Given the description of an element on the screen output the (x, y) to click on. 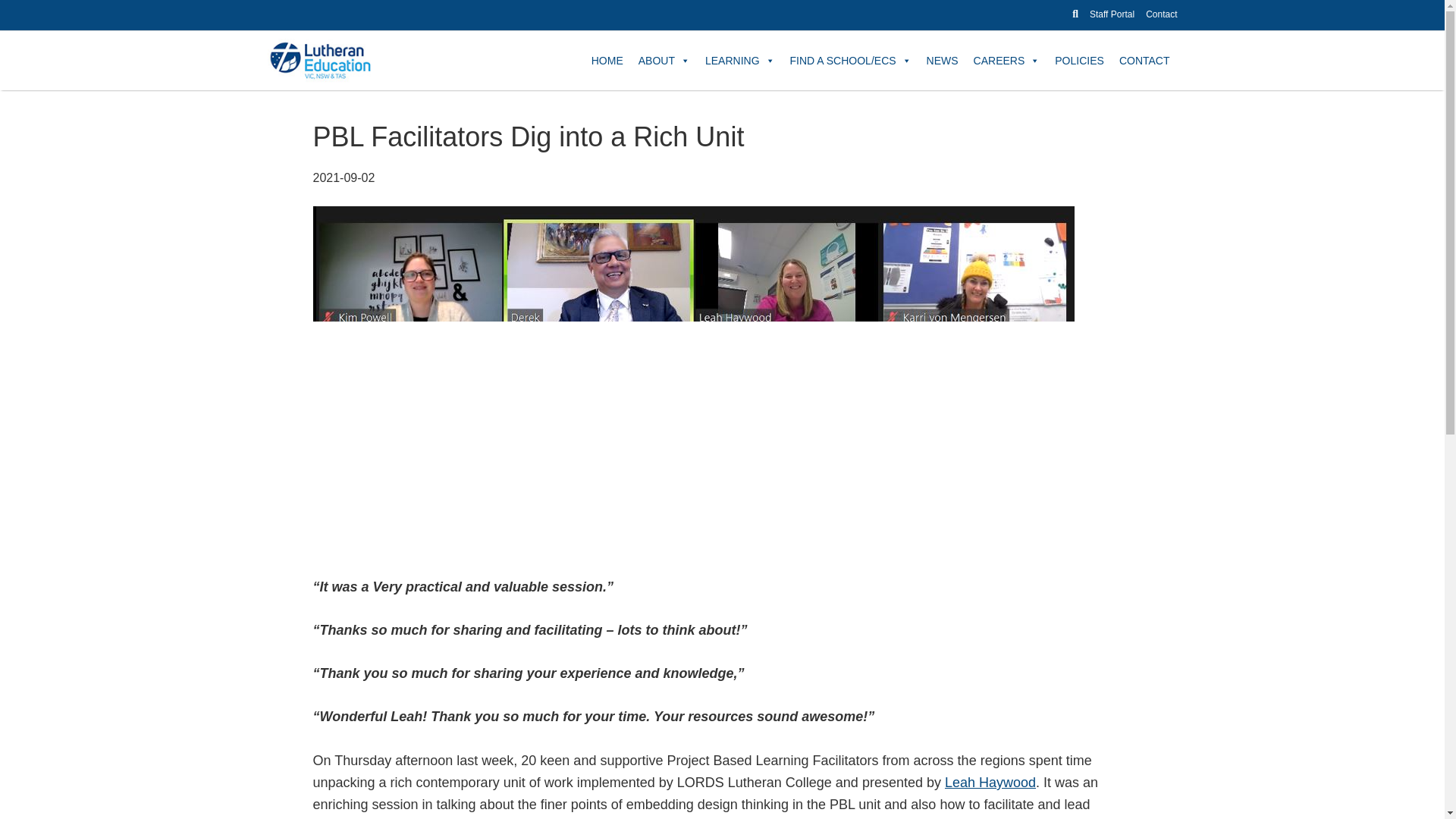
POLICIES (1079, 59)
Leah Haywood (989, 782)
ABOUT (663, 59)
CAREERS (1007, 59)
Contact (1160, 14)
CONTACT (1144, 59)
LEARNING (740, 59)
Staff Portal (1111, 14)
